Given the description of an element on the screen output the (x, y) to click on. 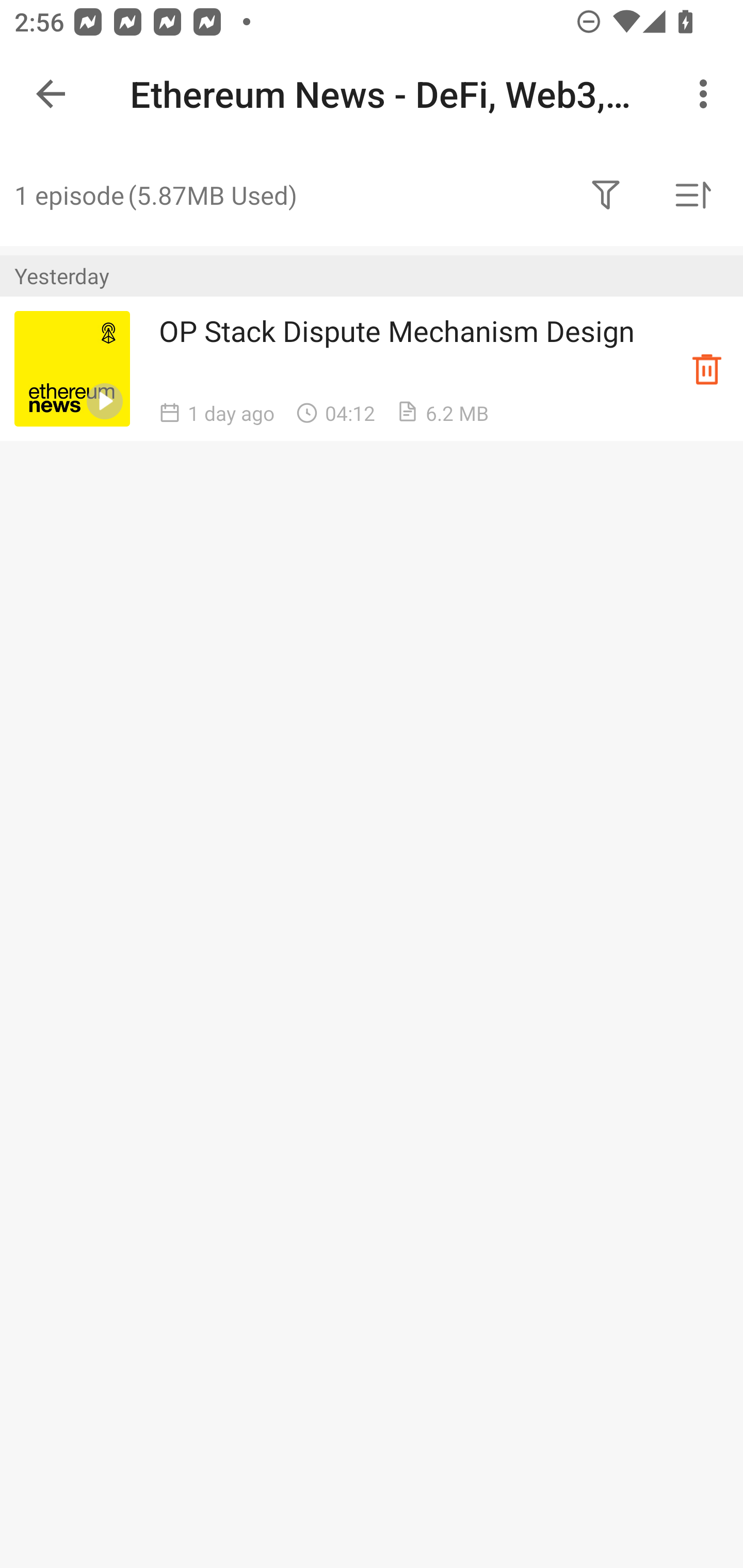
Navigate up (50, 93)
More options (706, 93)
 (605, 195)
 Sorted by oldest first (692, 195)
Download (706, 368)
